Given the description of an element on the screen output the (x, y) to click on. 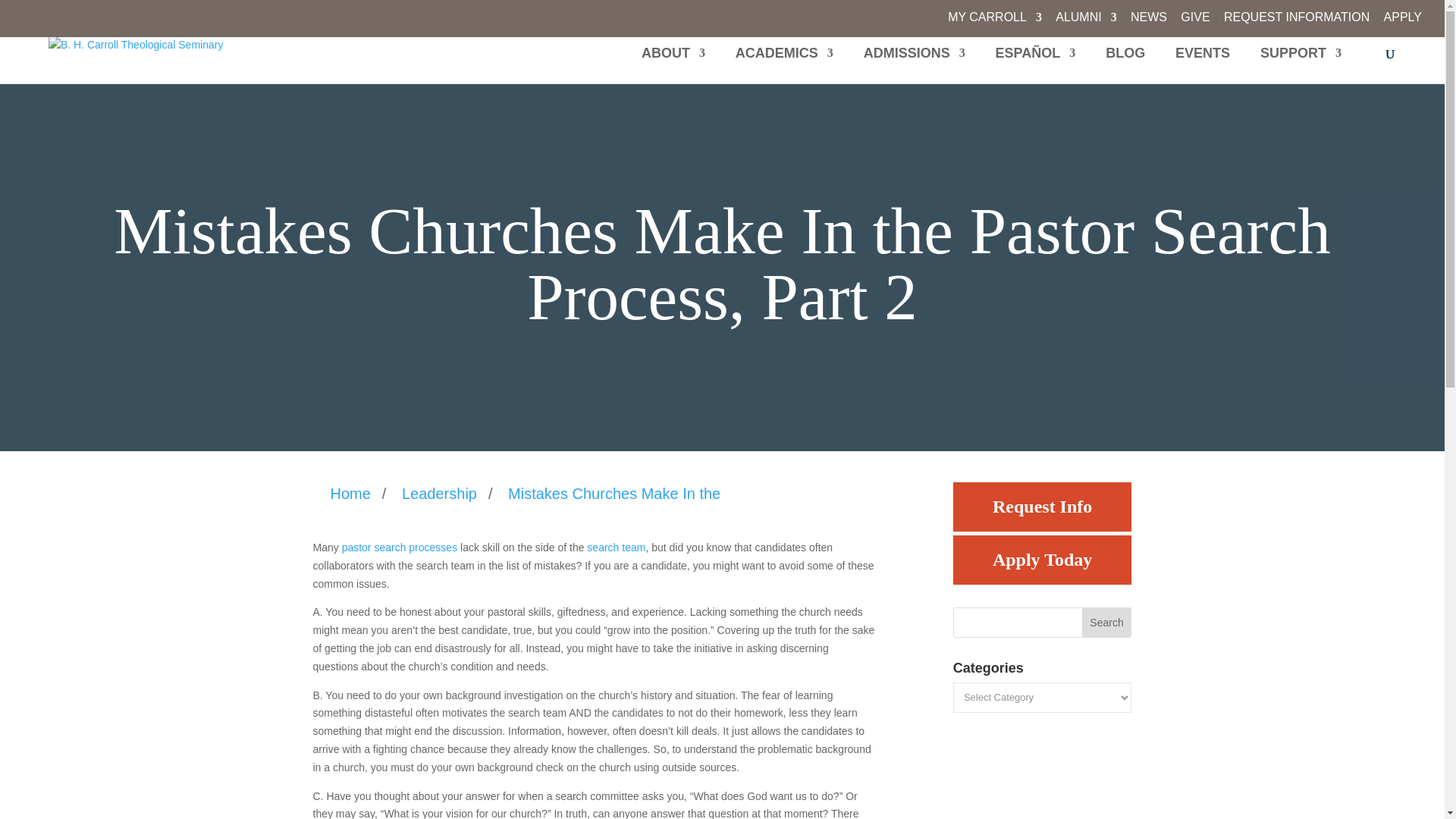
ALUMNI (1085, 22)
Home (354, 493)
Mistakes Churches Make In the Pastor Search Process, Part 2 (614, 493)
GIVE (1194, 22)
ADMISSIONS (914, 65)
ABOUT (673, 65)
Search (1106, 622)
Leadership (439, 493)
MY CARROLL (994, 22)
NEWS (1149, 22)
